Given the description of an element on the screen output the (x, y) to click on. 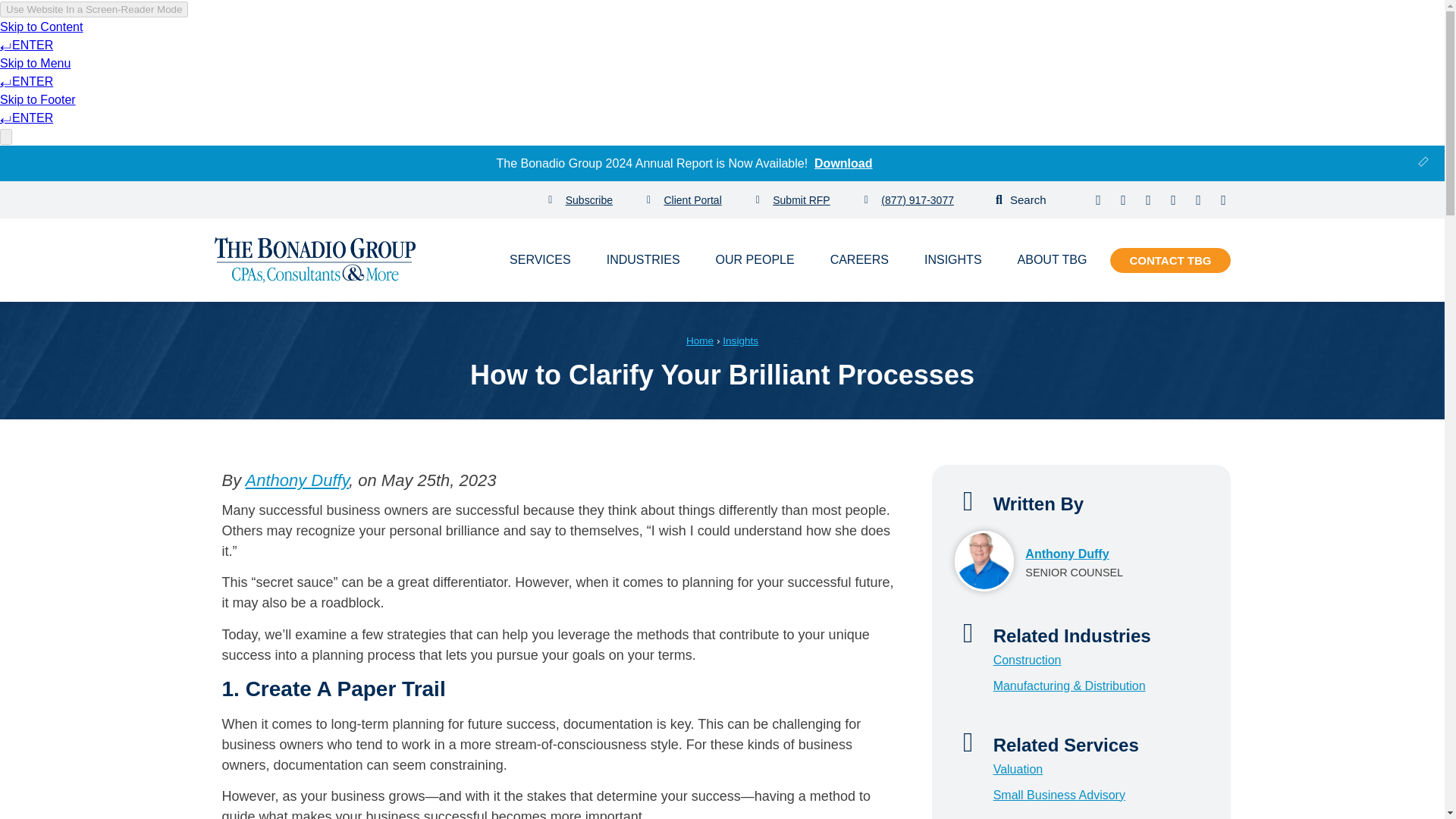
Subscribe (580, 199)
SERVICES (539, 259)
Submit RFP (792, 199)
Client Portal (684, 199)
INDUSTRIES (643, 259)
Download (842, 162)
